Given the description of an element on the screen output the (x, y) to click on. 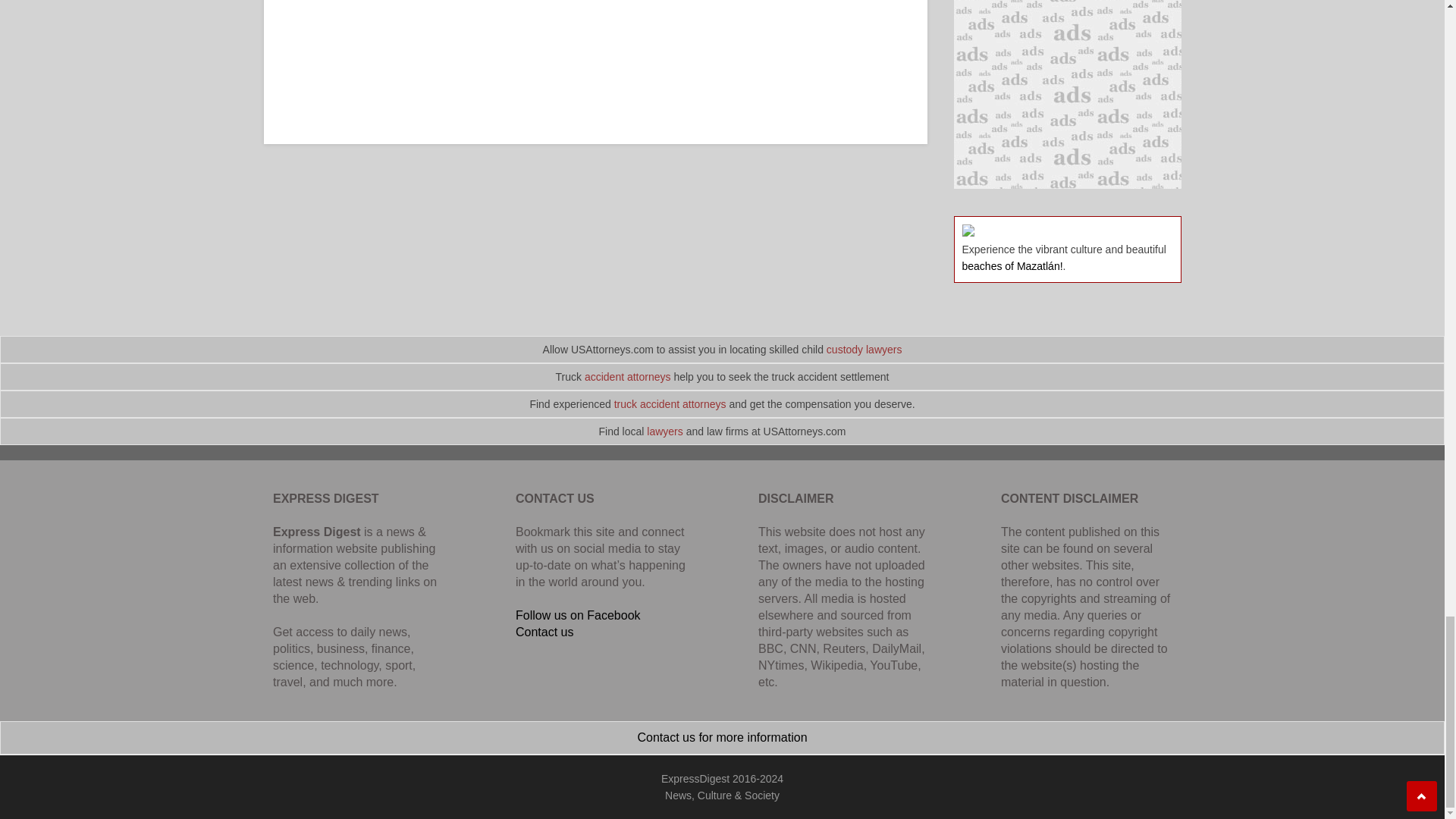
truck accident attorneys (670, 404)
accident attorneys (628, 377)
lawyers (664, 431)
custody lawyers (864, 349)
